Given the description of an element on the screen output the (x, y) to click on. 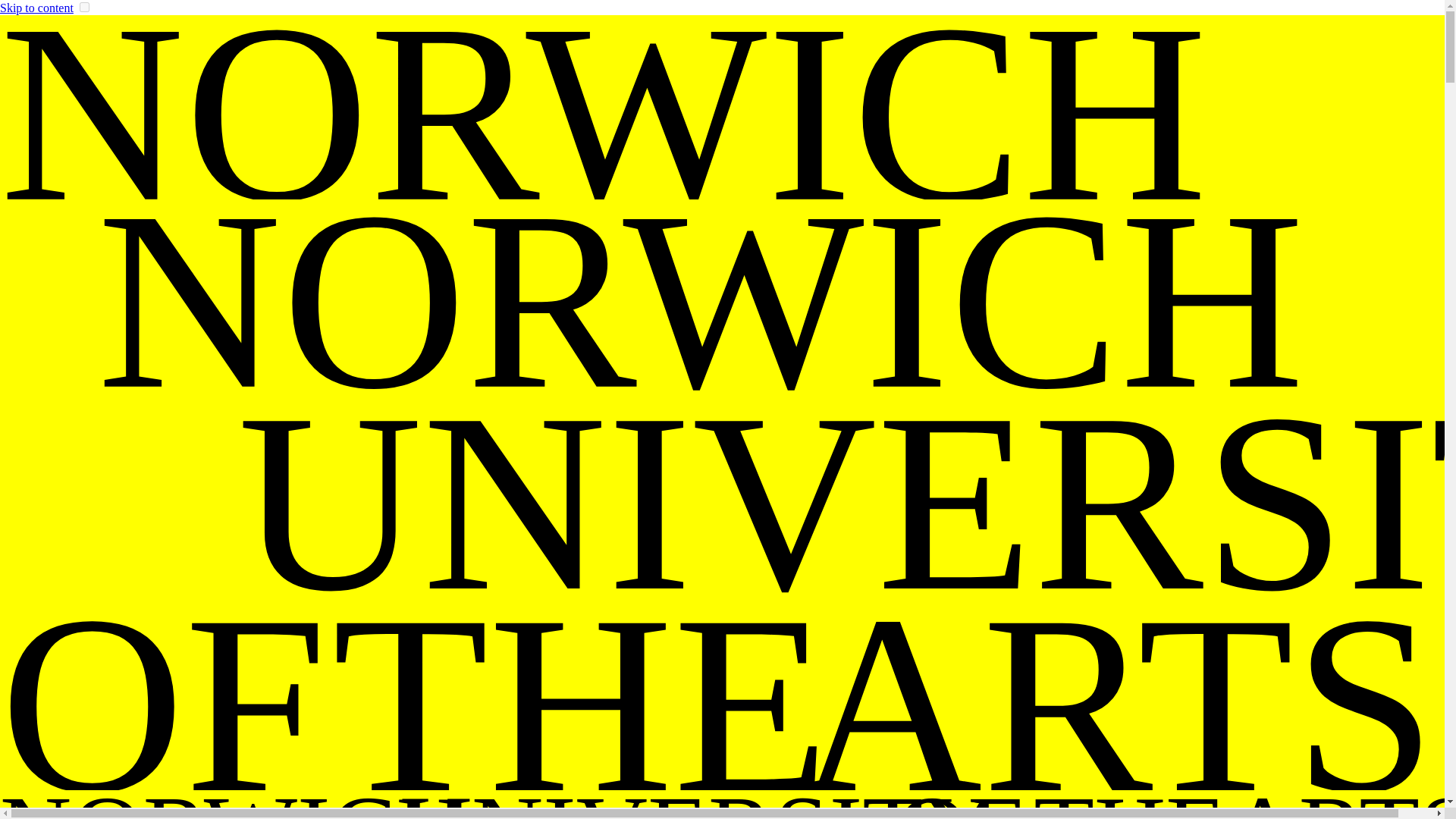
on (84, 7)
Skip to content (37, 7)
NORWICH (722, 806)
